Given the description of an element on the screen output the (x, y) to click on. 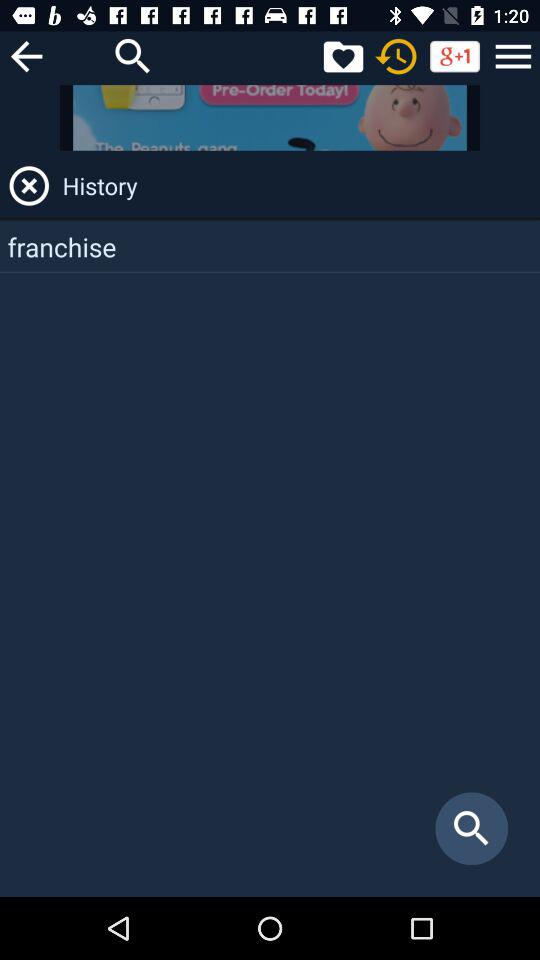
button to go to favorites folder (343, 56)
